Given the description of an element on the screen output the (x, y) to click on. 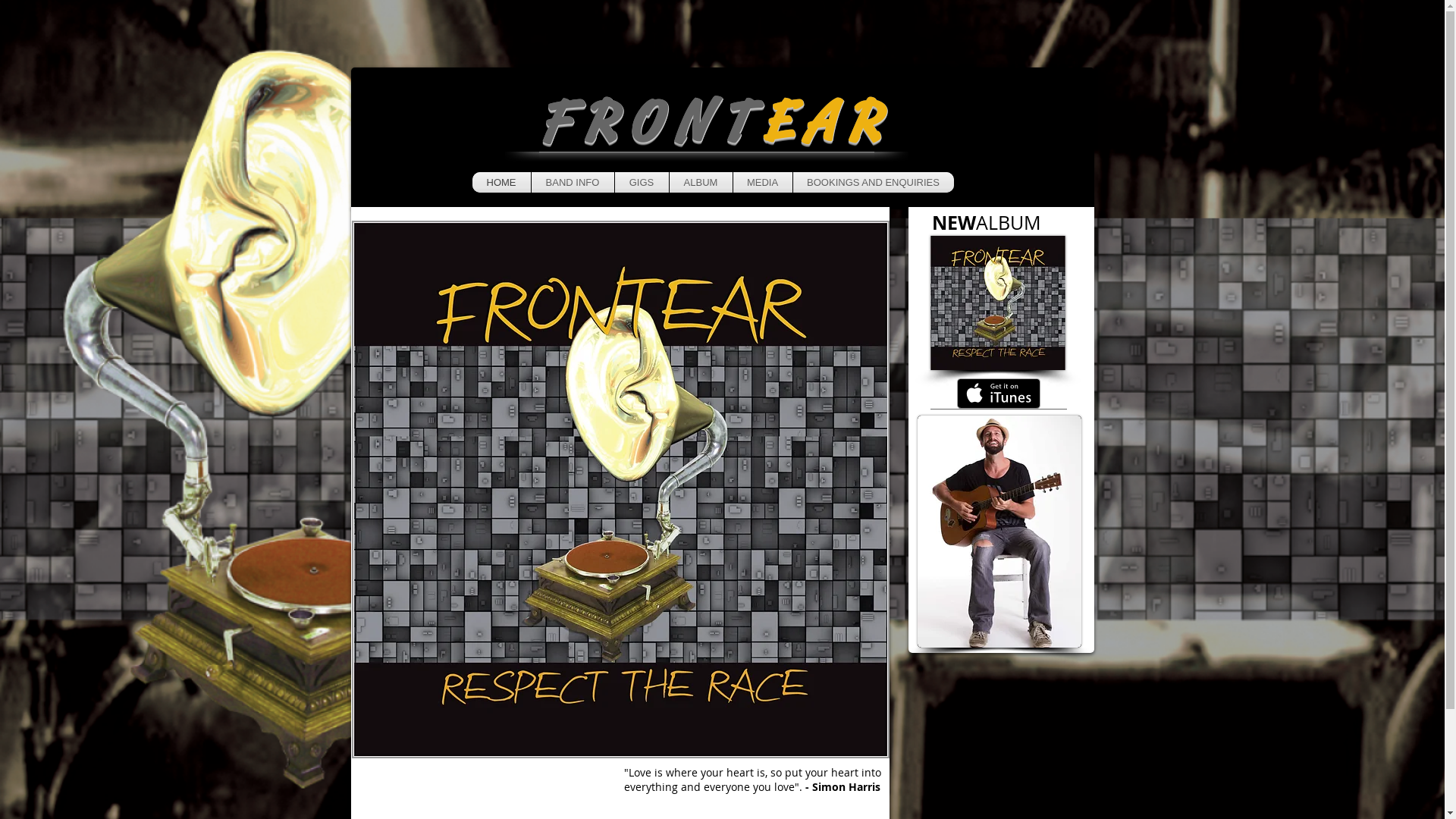
ALBUM Element type: text (699, 182)
BOOKINGS AND ENQUIRIES Element type: text (873, 182)
Get it on iTunes Element type: hover (998, 393)
HOME Element type: text (500, 182)
CAIRNS LIVE MUSIC BAND HIRE Element type: hover (996, 302)
MEDIA Element type: text (761, 182)
GIGS Element type: text (641, 182)
BAND INFO Element type: text (571, 182)
